Given the description of an element on the screen output the (x, y) to click on. 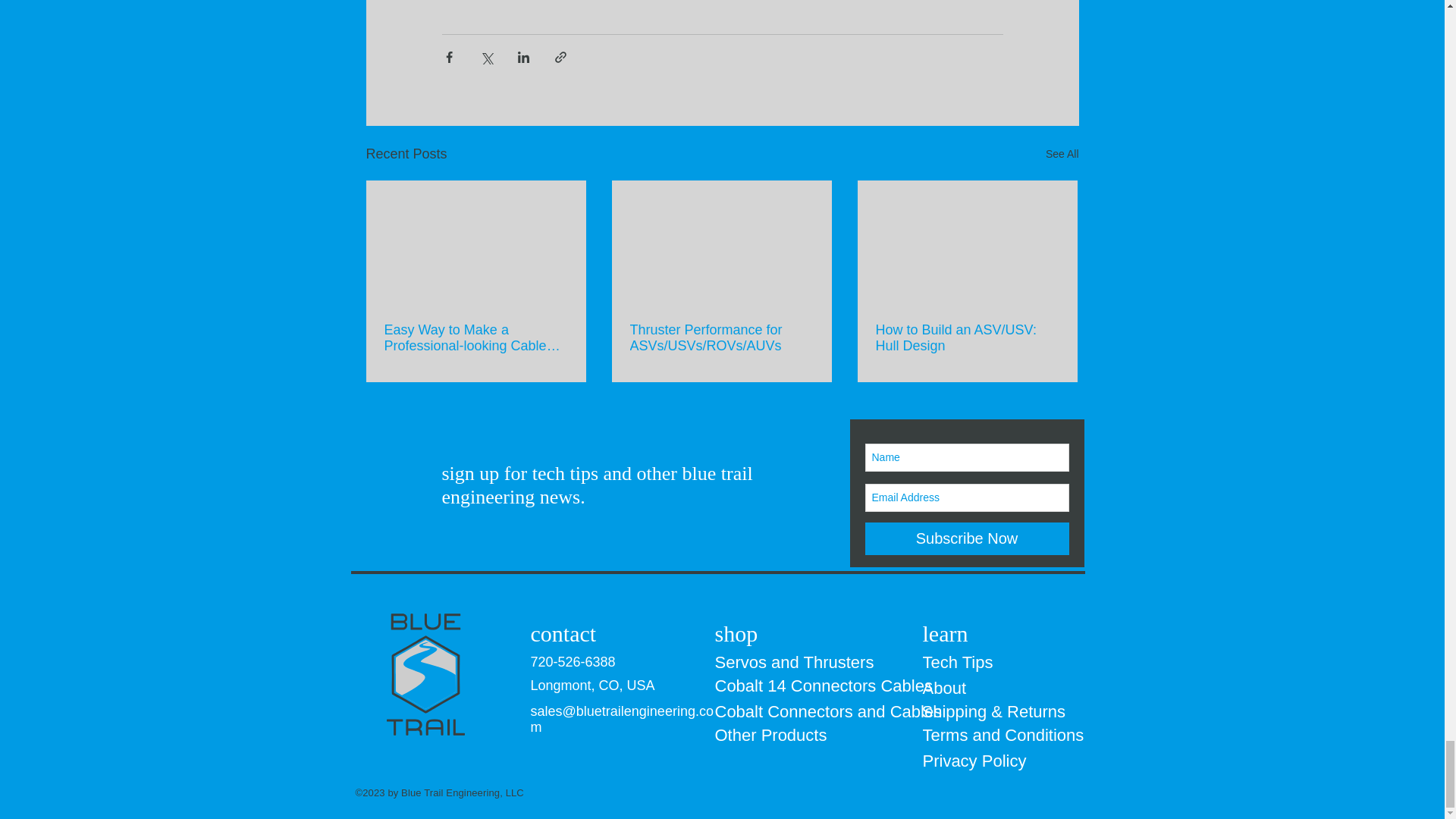
Easy Way to Make a Professional-looking Cable Termination (475, 337)
See All (1061, 154)
